Given the description of an element on the screen output the (x, y) to click on. 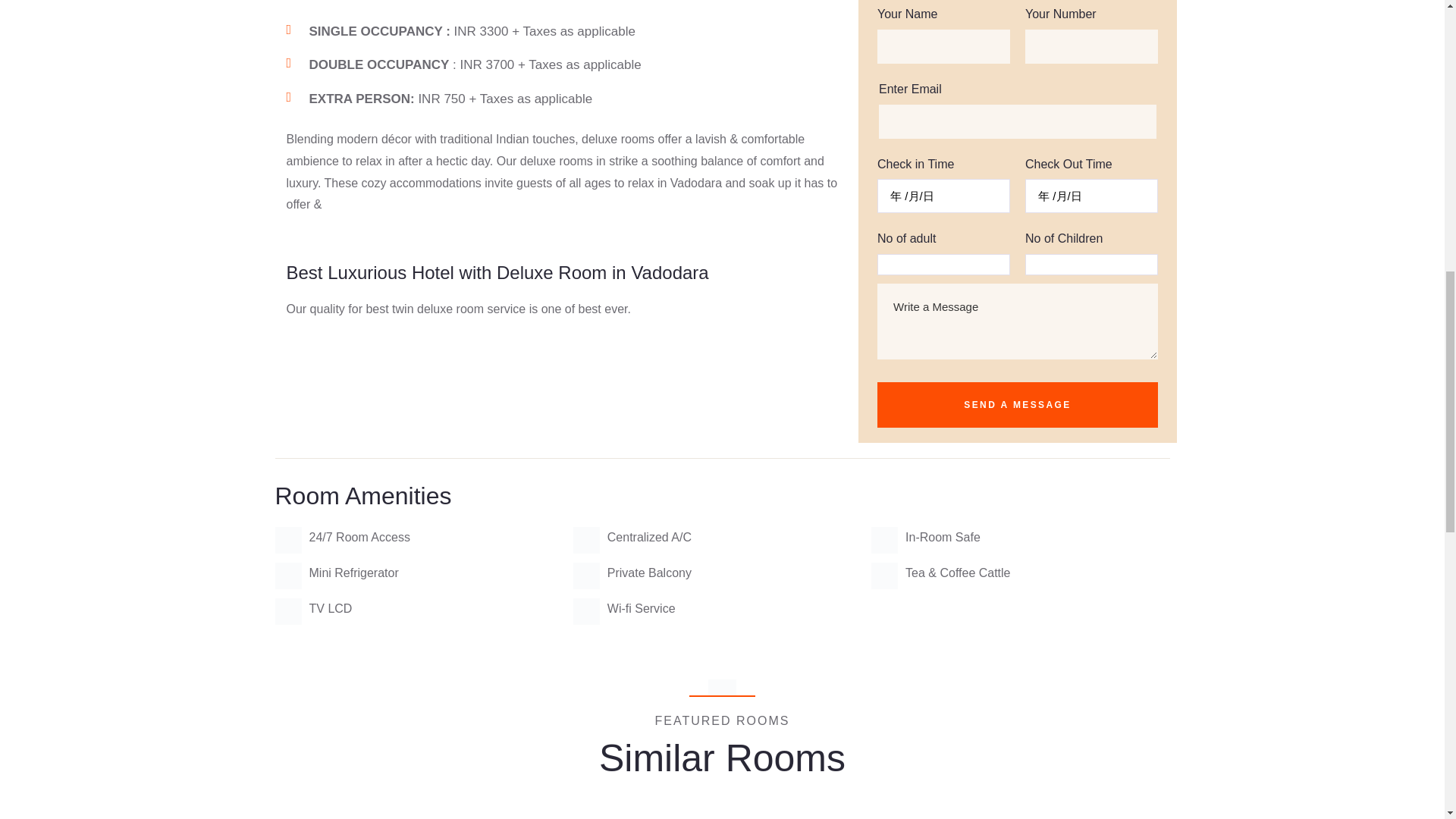
Send a Message (1017, 404)
Send a Message (1017, 404)
